Given the description of an element on the screen output the (x, y) to click on. 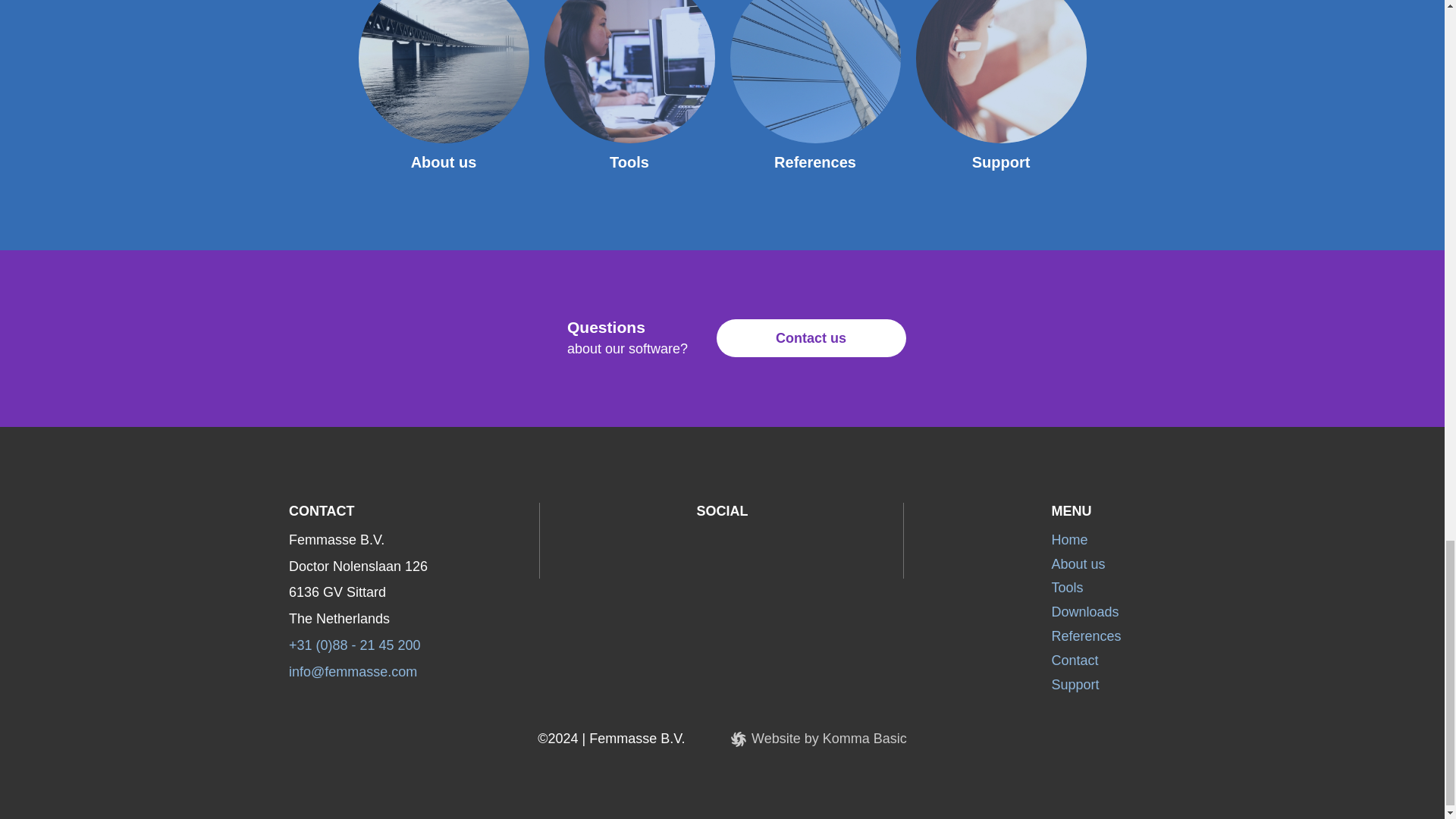
Home (1069, 539)
Support (1075, 684)
Website by Komma Basic (818, 739)
About us (1078, 563)
Support (1001, 161)
References (815, 161)
Downloads (1084, 611)
Tools (1067, 587)
References (1086, 635)
Contact (1074, 660)
About us (443, 161)
Tools (629, 161)
